Given the description of an element on the screen output the (x, y) to click on. 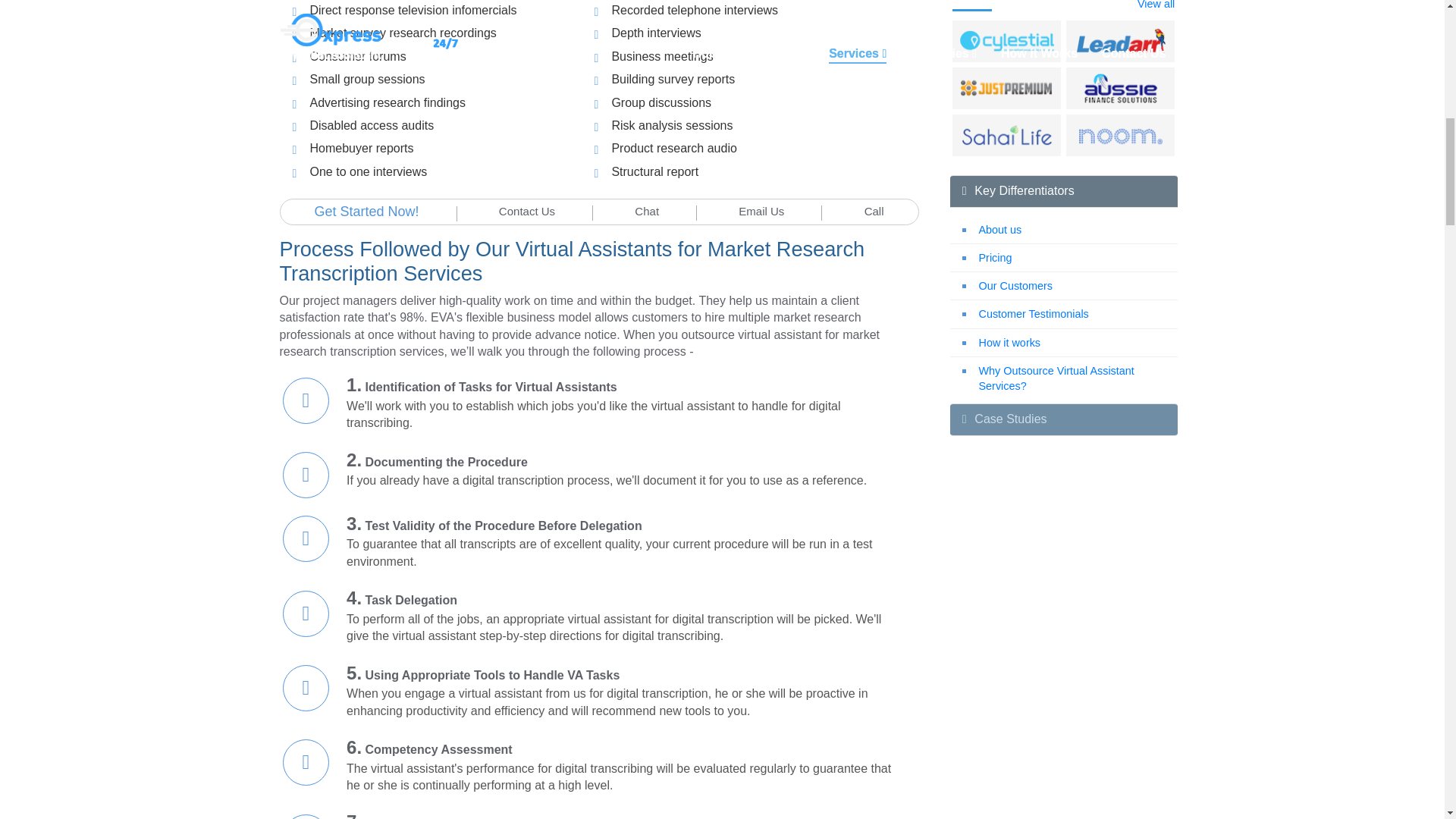
Celestial Systems (1006, 41)
Aussie Finance Solutions (1120, 88)
Leadarr (1120, 41)
Chat (646, 210)
Noom (1120, 135)
JustPremium (1006, 88)
Contact Us (526, 210)
Call (873, 210)
Sahai Life (1006, 135)
Email Us (761, 210)
